Given the description of an element on the screen output the (x, y) to click on. 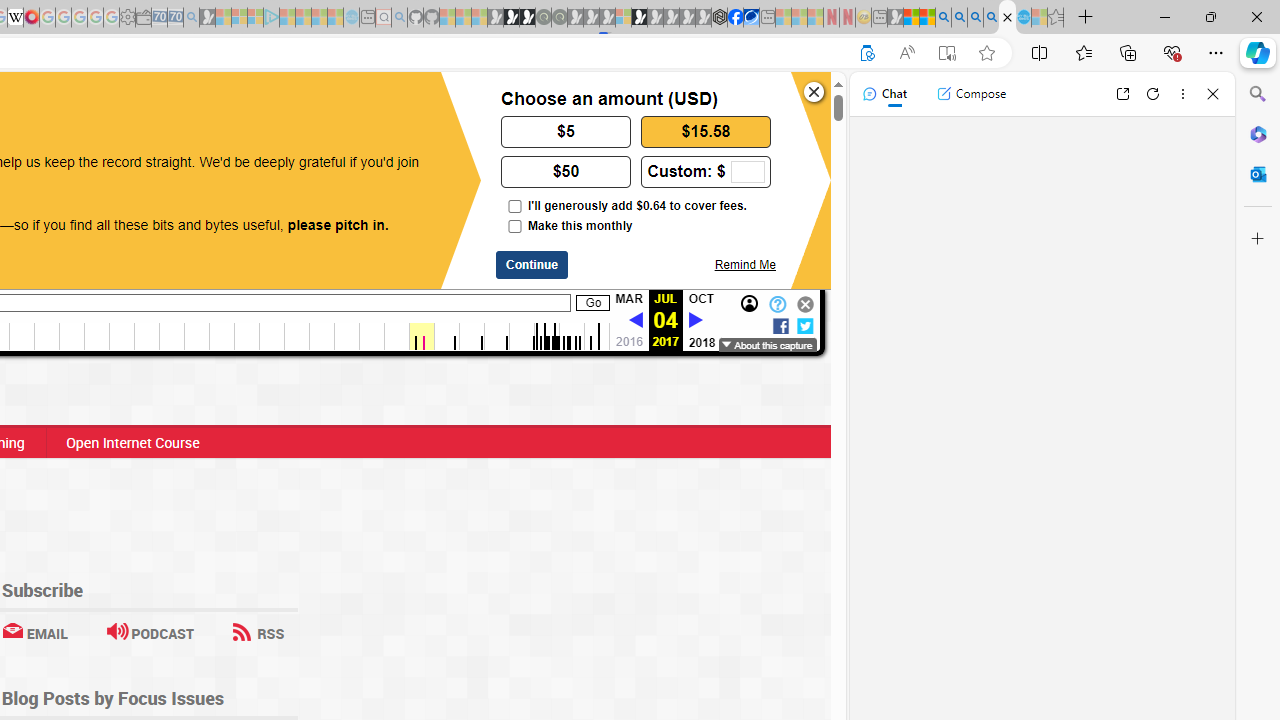
Shiva Stella - Public Knowledge (1007, 17)
Google Chrome Internet Browser Download - Search Images (991, 17)
Favorites - Sleeping (1055, 17)
EMAIL (34, 632)
OCT (701, 299)
Continue (532, 265)
